Given the description of an element on the screen output the (x, y) to click on. 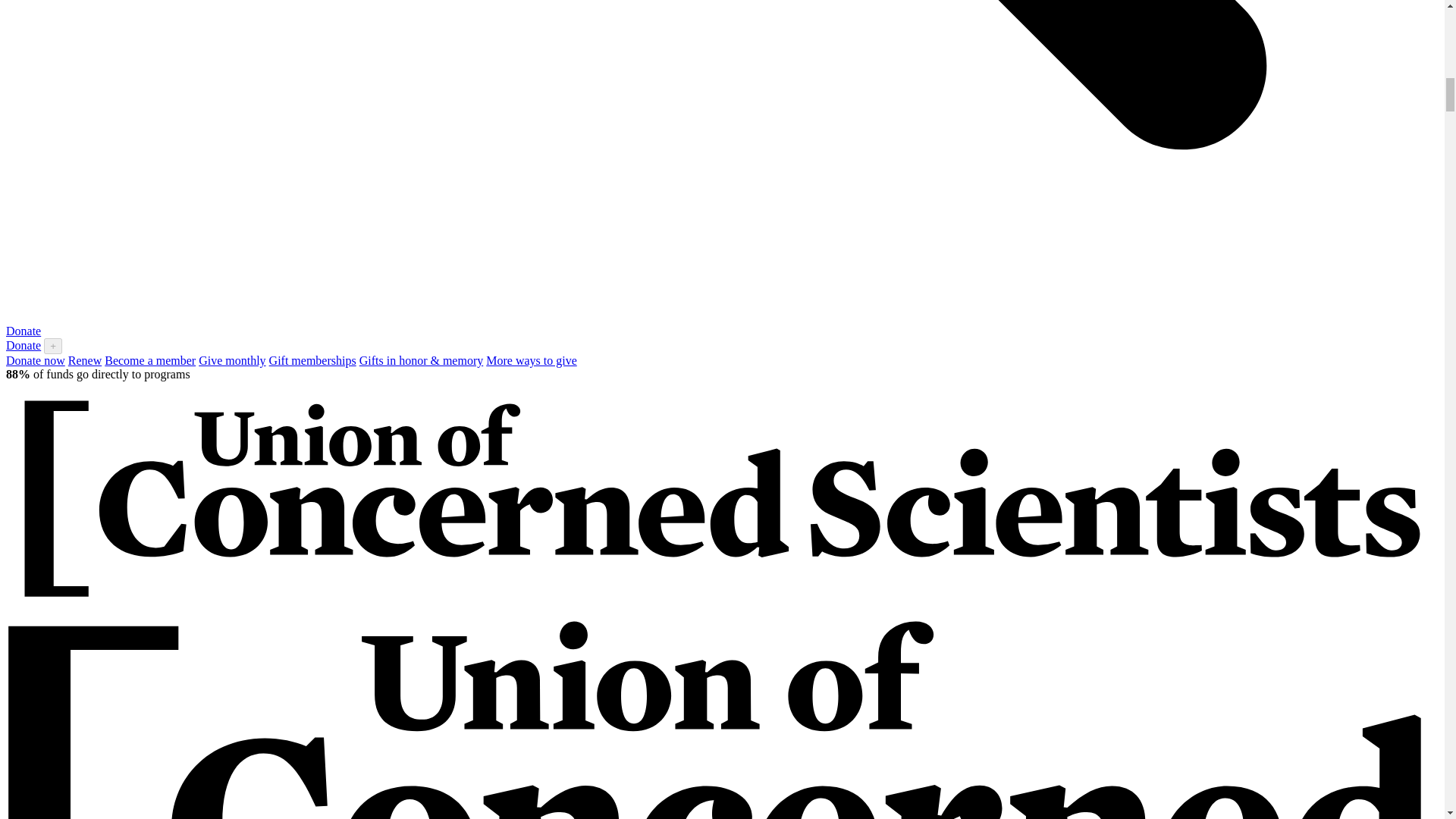
Donate (22, 330)
Become a member (149, 359)
Donate (22, 345)
Donate now (35, 359)
Renew (84, 359)
